Given the description of an element on the screen output the (x, y) to click on. 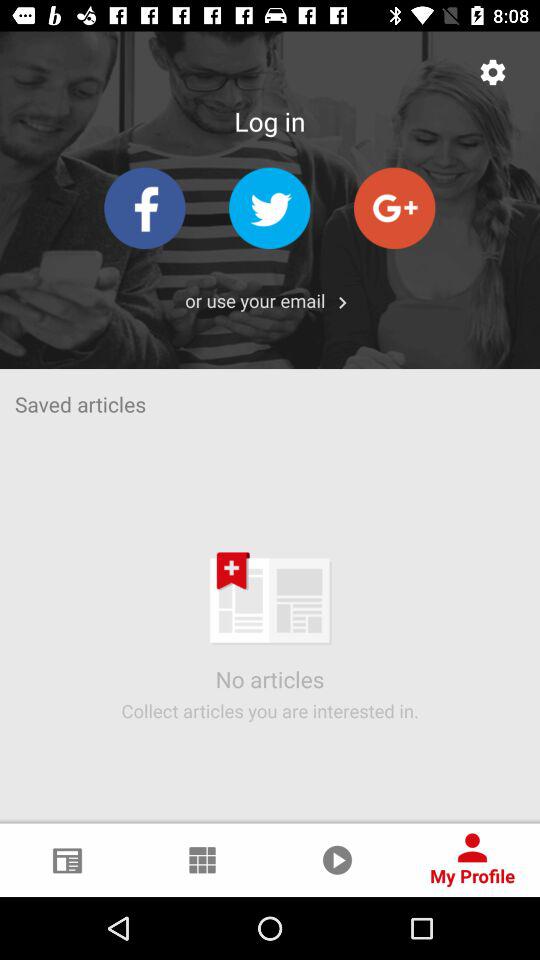
select the icon next to the or use your app (342, 302)
